Given the description of an element on the screen output the (x, y) to click on. 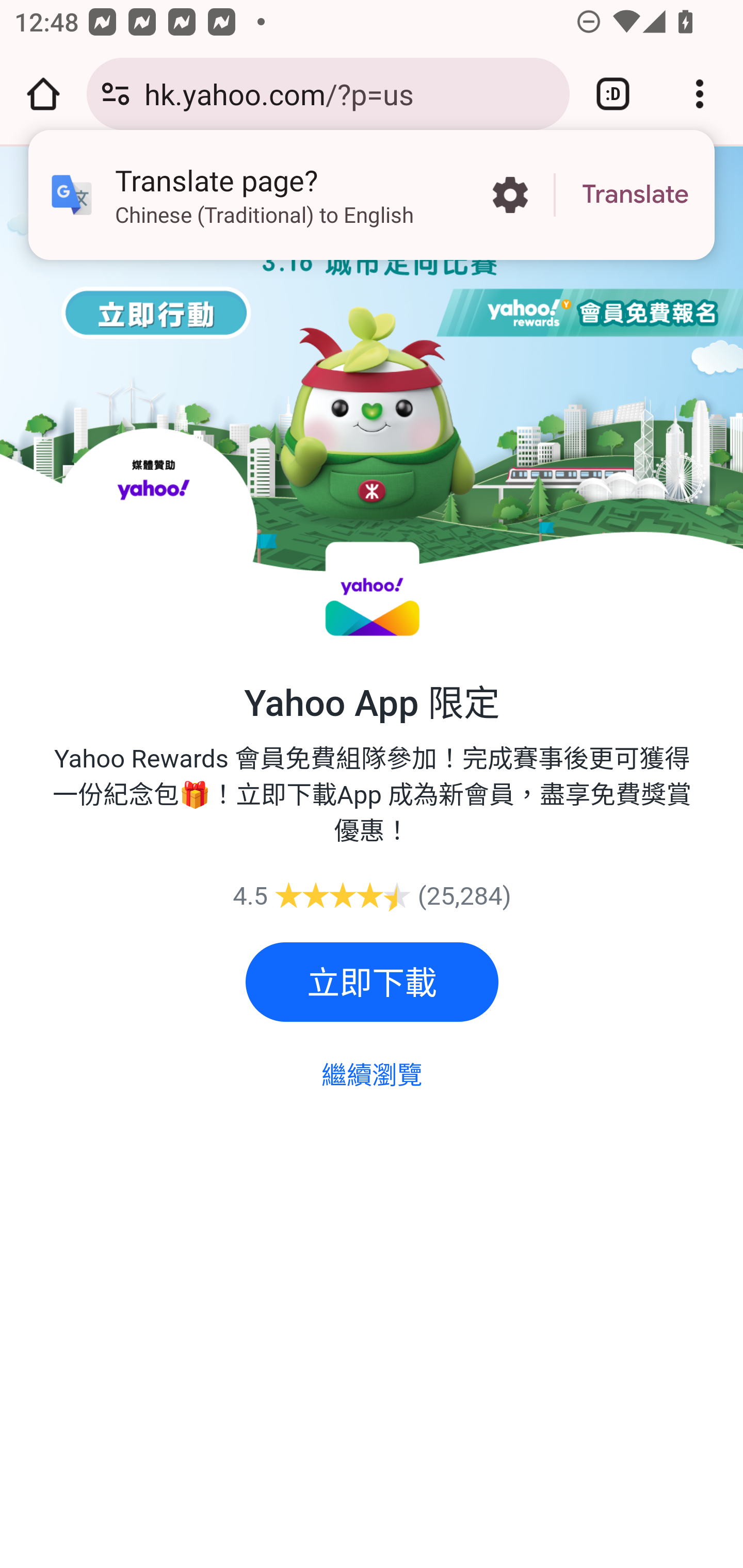
Open the home page (43, 93)
Connection is secure (115, 93)
Switch or close tabs (612, 93)
Customize and control Google Chrome (699, 93)
hk.yahoo.com/?p=us (349, 92)
Translate (634, 195)
More options in the Translate page? (509, 195)
